Given the description of an element on the screen output the (x, y) to click on. 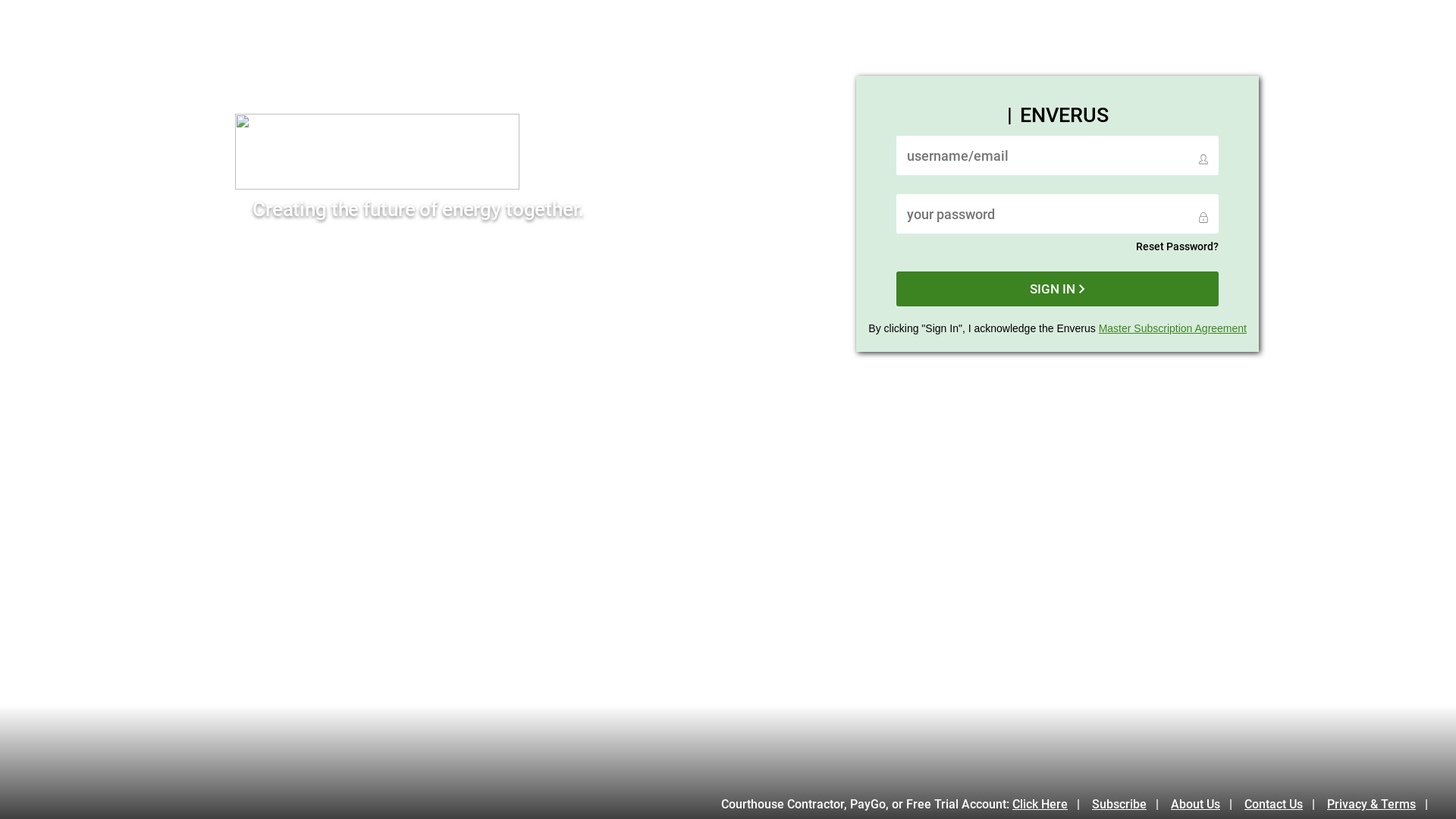
Reset Password? Element type: text (1176, 246)
Click Here Element type: text (1050, 804)
About Us Element type: text (1205, 804)
SIGN IN Element type: text (1057, 288)
Contact Us Element type: text (1284, 804)
Master Subscription Agreement Element type: text (1172, 328)
Privacy & Terms Element type: text (1382, 804)
Subscribe Element type: text (1129, 804)
